Given the description of an element on the screen output the (x, y) to click on. 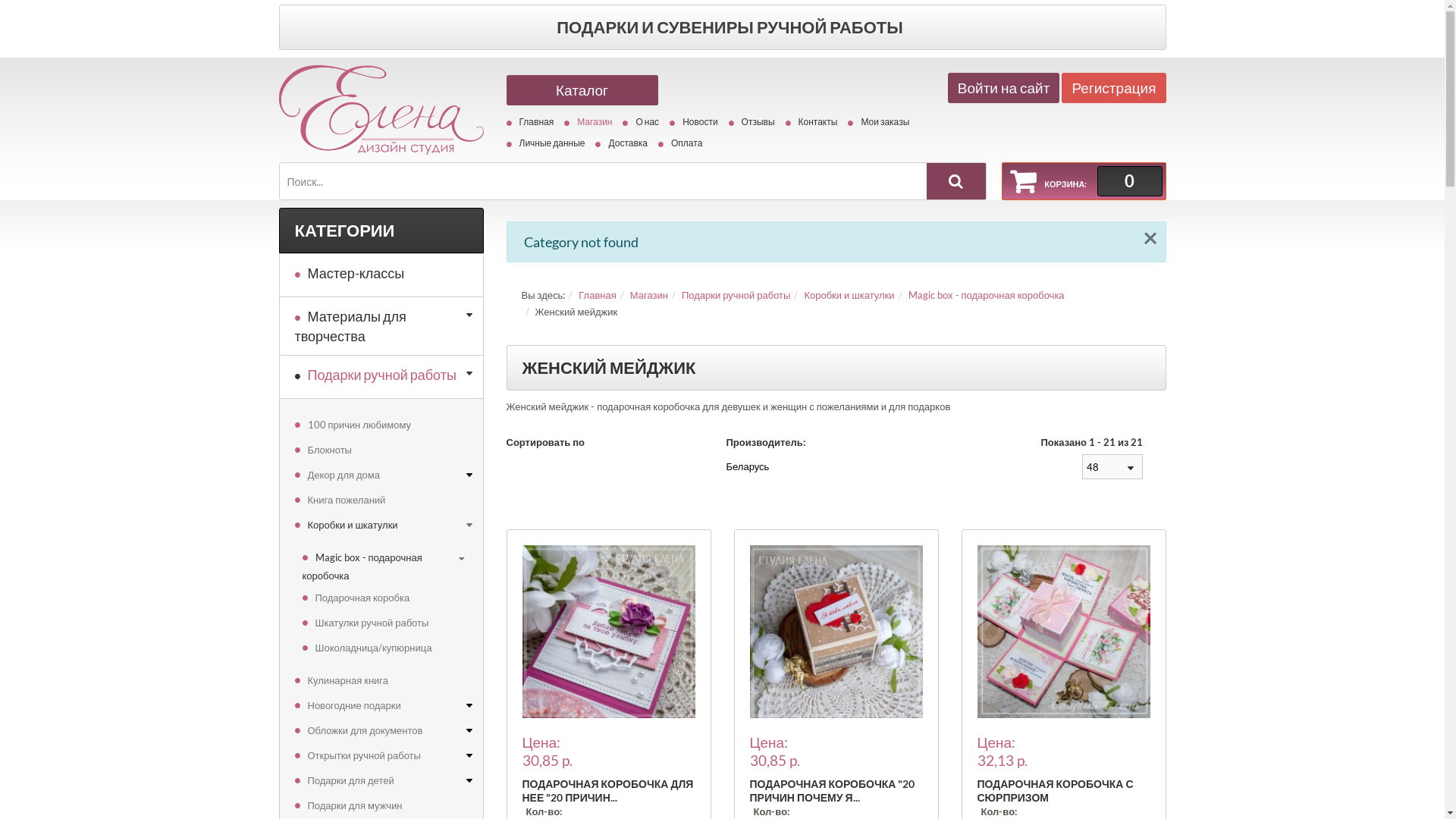
0 Element type: text (1128, 181)
